Given the description of an element on the screen output the (x, y) to click on. 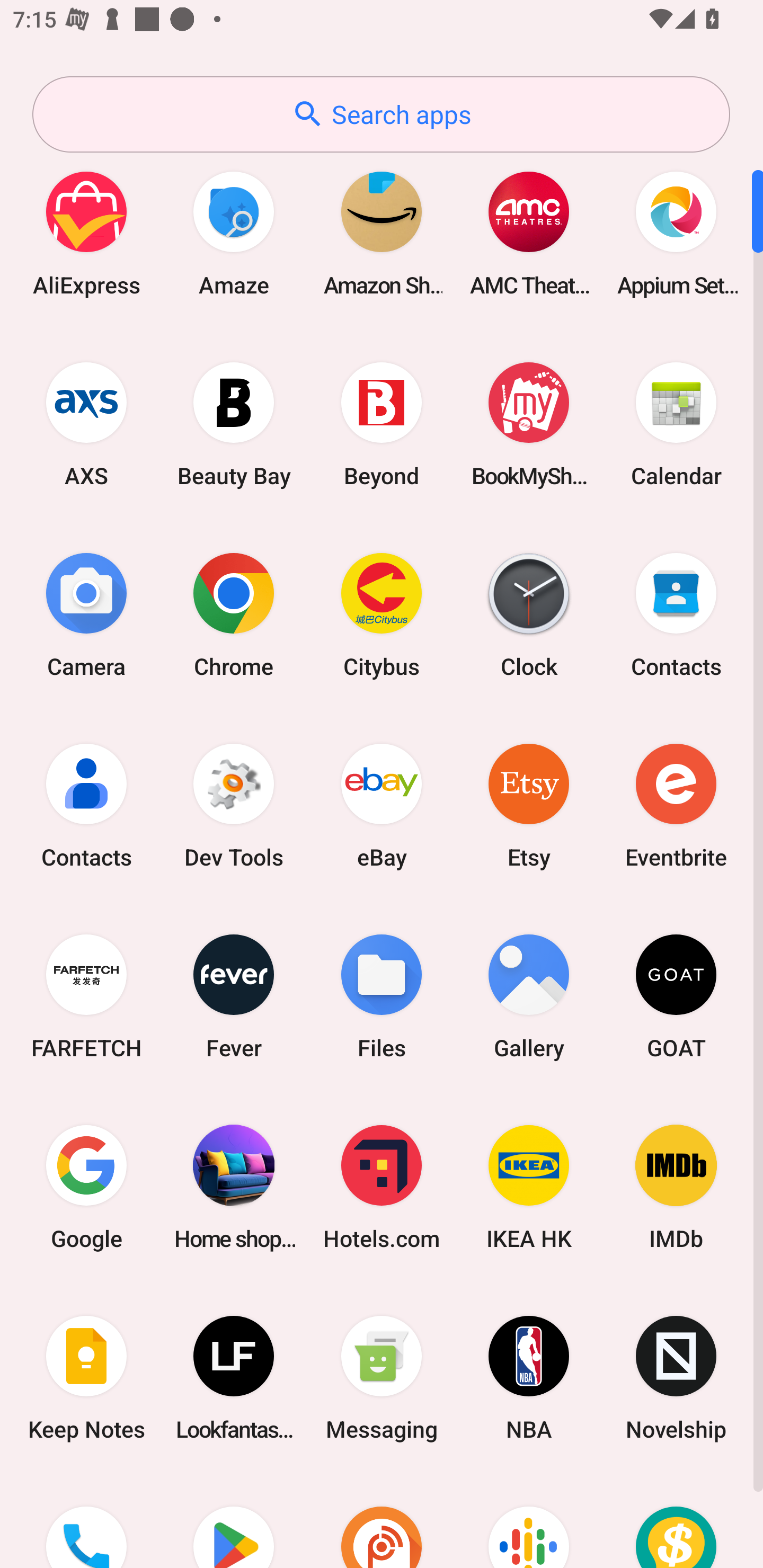
  Search apps (381, 114)
AliExpress (86, 233)
Amaze (233, 233)
Amazon Shopping (381, 233)
AMC Theatres (528, 233)
Appium Settings (676, 233)
AXS (86, 424)
Beauty Bay (233, 424)
Beyond (381, 424)
BookMyShow (528, 424)
Calendar (676, 424)
Camera (86, 614)
Chrome (233, 614)
Citybus (381, 614)
Clock (528, 614)
Contacts (676, 614)
Contacts (86, 805)
Dev Tools (233, 805)
eBay (381, 805)
Etsy (528, 805)
Eventbrite (676, 805)
FARFETCH (86, 996)
Fever (233, 996)
Files (381, 996)
Gallery (528, 996)
GOAT (676, 996)
Google (86, 1186)
Home shopping (233, 1186)
Hotels.com (381, 1186)
IKEA HK (528, 1186)
IMDb (676, 1186)
Keep Notes (86, 1377)
Lookfantastic (233, 1377)
Messaging (381, 1377)
NBA (528, 1377)
Novelship (676, 1377)
Phone (86, 1520)
Play Store (233, 1520)
Podcast Addict (381, 1520)
Podcasts (528, 1520)
Price (676, 1520)
